Given the description of an element on the screen output the (x, y) to click on. 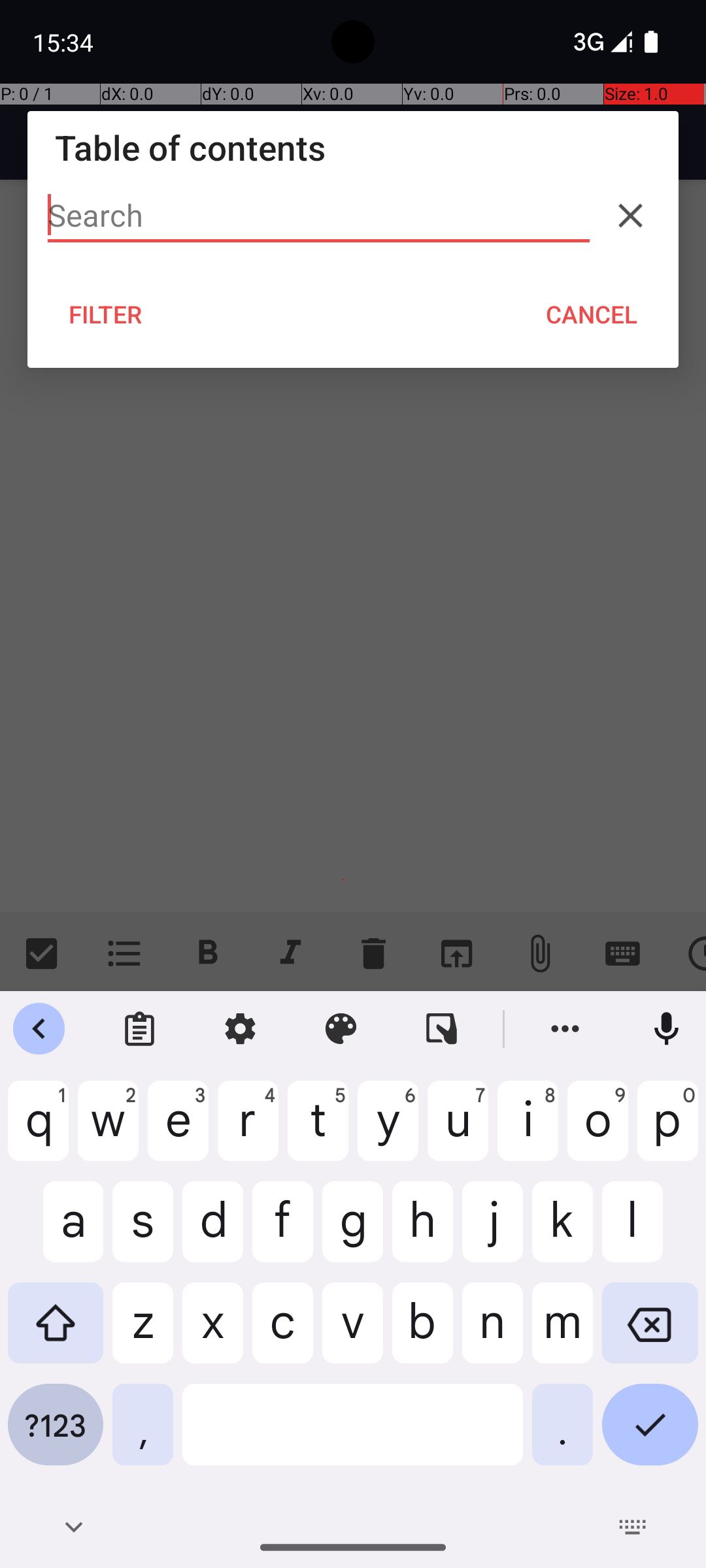
Table of contents Element type: android.widget.TextView (352, 147)
FILTER Element type: android.widget.Button (105, 313)
